Given the description of an element on the screen output the (x, y) to click on. 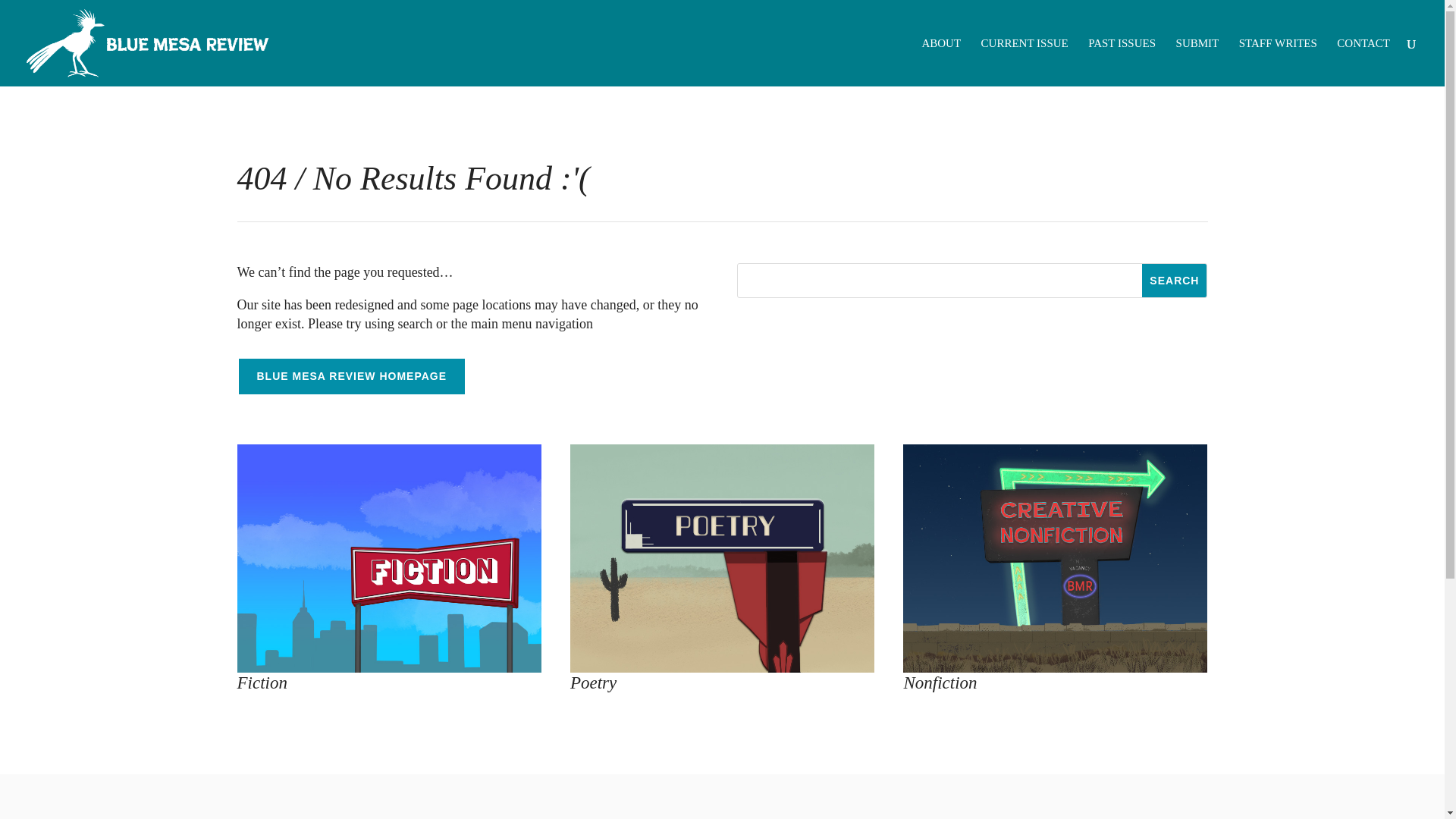
Fiction (260, 682)
Poetry (592, 682)
CURRENT ISSUE (1024, 61)
SUBMIT (1198, 61)
Search (1174, 280)
Search (1174, 280)
poetry (722, 558)
Nonfiction (939, 682)
PAST ISSUES (1121, 61)
CONTACT (1363, 61)
BLUE MESA REVIEW HOMEPAGE (350, 376)
Search (1174, 280)
STAFF WRITES (1278, 61)
fiction (387, 558)
non-fiction-icon (1054, 558)
